Given the description of an element on the screen output the (x, y) to click on. 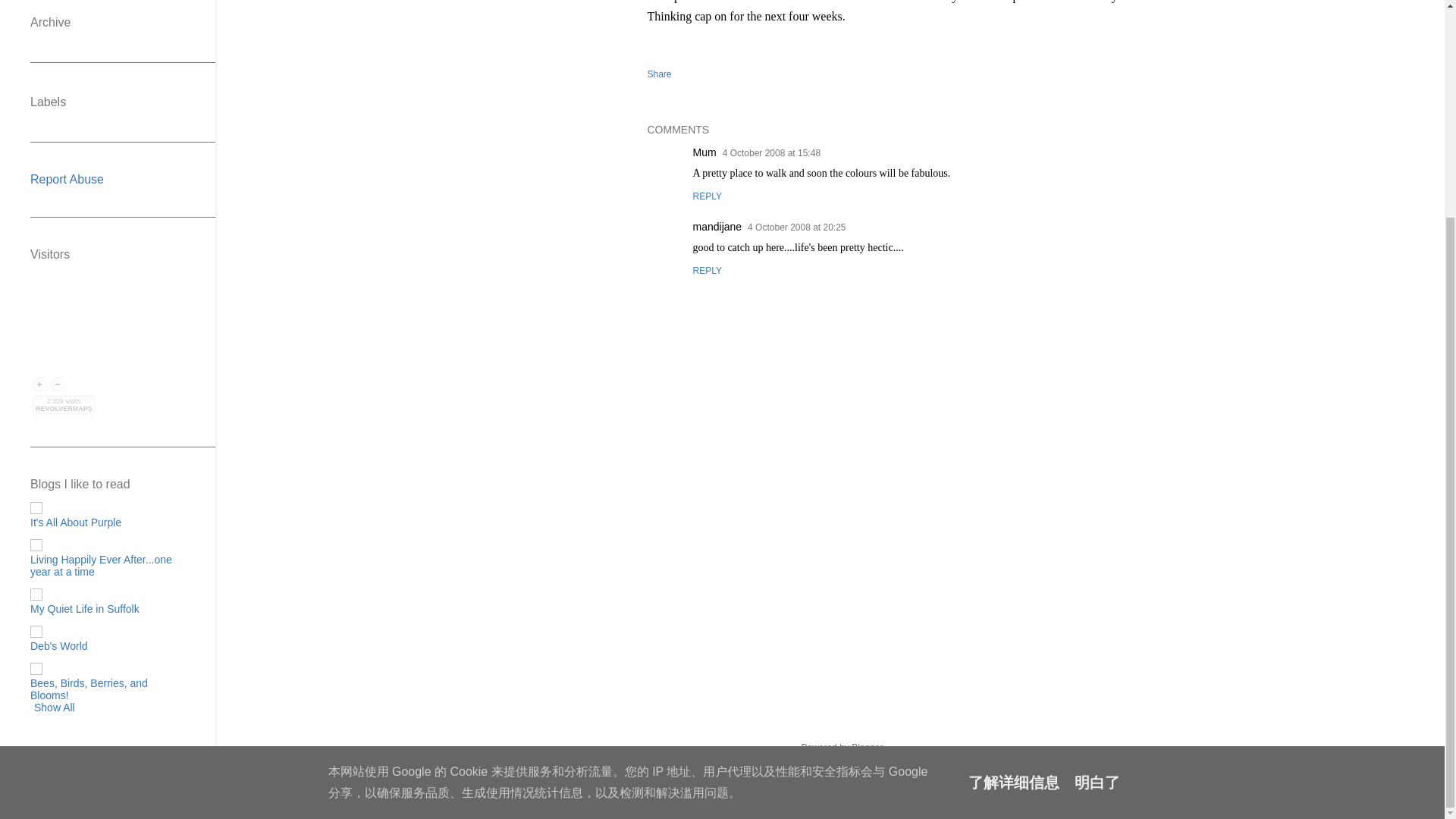
Share (659, 73)
konradlew (866, 775)
4 October 2008 at 15:48 (771, 153)
REPLY (707, 195)
REPLY (707, 270)
4 October 2008 at 20:25 (796, 226)
Mum (704, 152)
mandijane (717, 226)
